Given the description of an element on the screen output the (x, y) to click on. 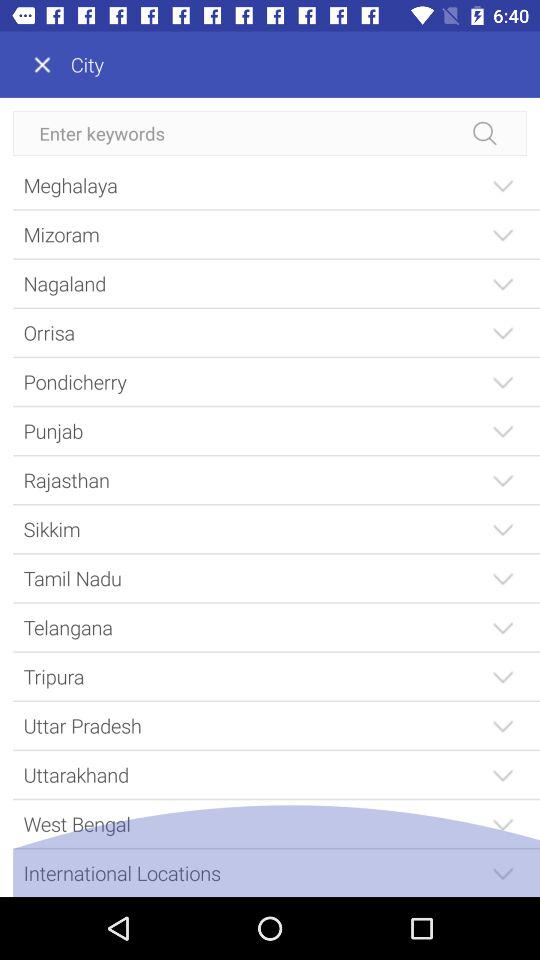
click on the drop down button beside nagaland (502, 282)
click on the first text box (269, 133)
click on the first drop down button (502, 184)
